Given the description of an element on the screen output the (x, y) to click on. 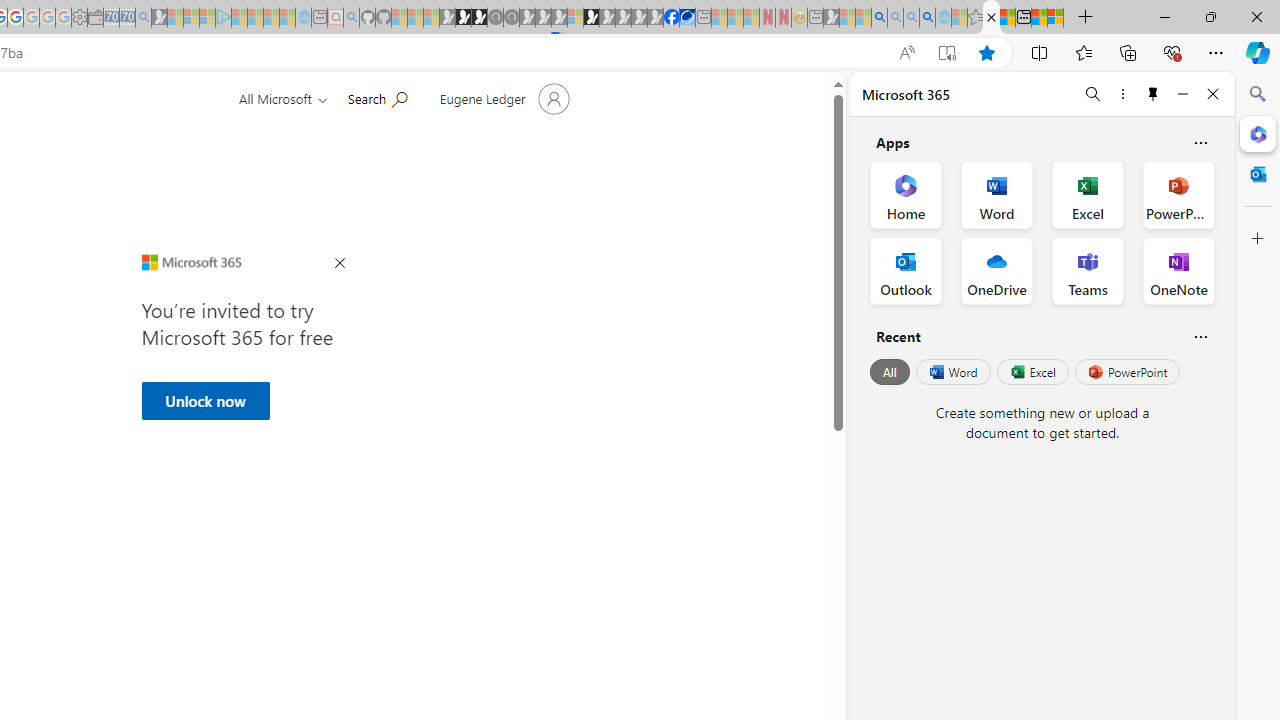
PowerPoint (1127, 372)
github - Search - Sleeping (351, 17)
AirNow.gov (687, 17)
Account manager for Eugene Ledger (502, 98)
Outlook Office App (906, 270)
Word (952, 372)
Cheap Car Rentals - Save70.com - Sleeping (127, 17)
Future Focus Report 2024 - Sleeping (511, 17)
